Given the description of an element on the screen output the (x, y) to click on. 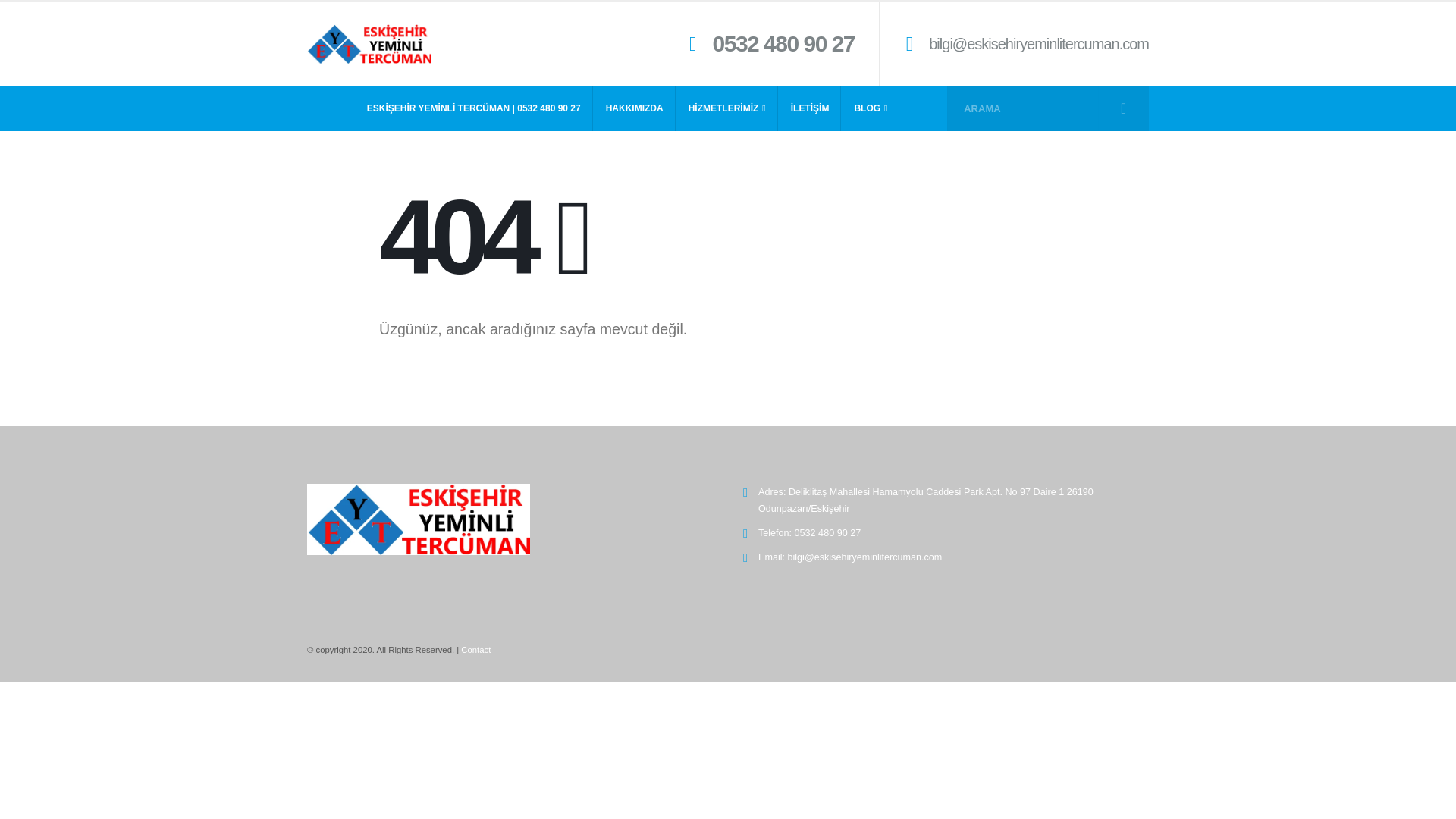
BLOG (870, 108)
HIZMETLERIMIZ (727, 108)
Arama (1122, 108)
HAKKIMIZDA (634, 108)
